Given the description of an element on the screen output the (x, y) to click on. 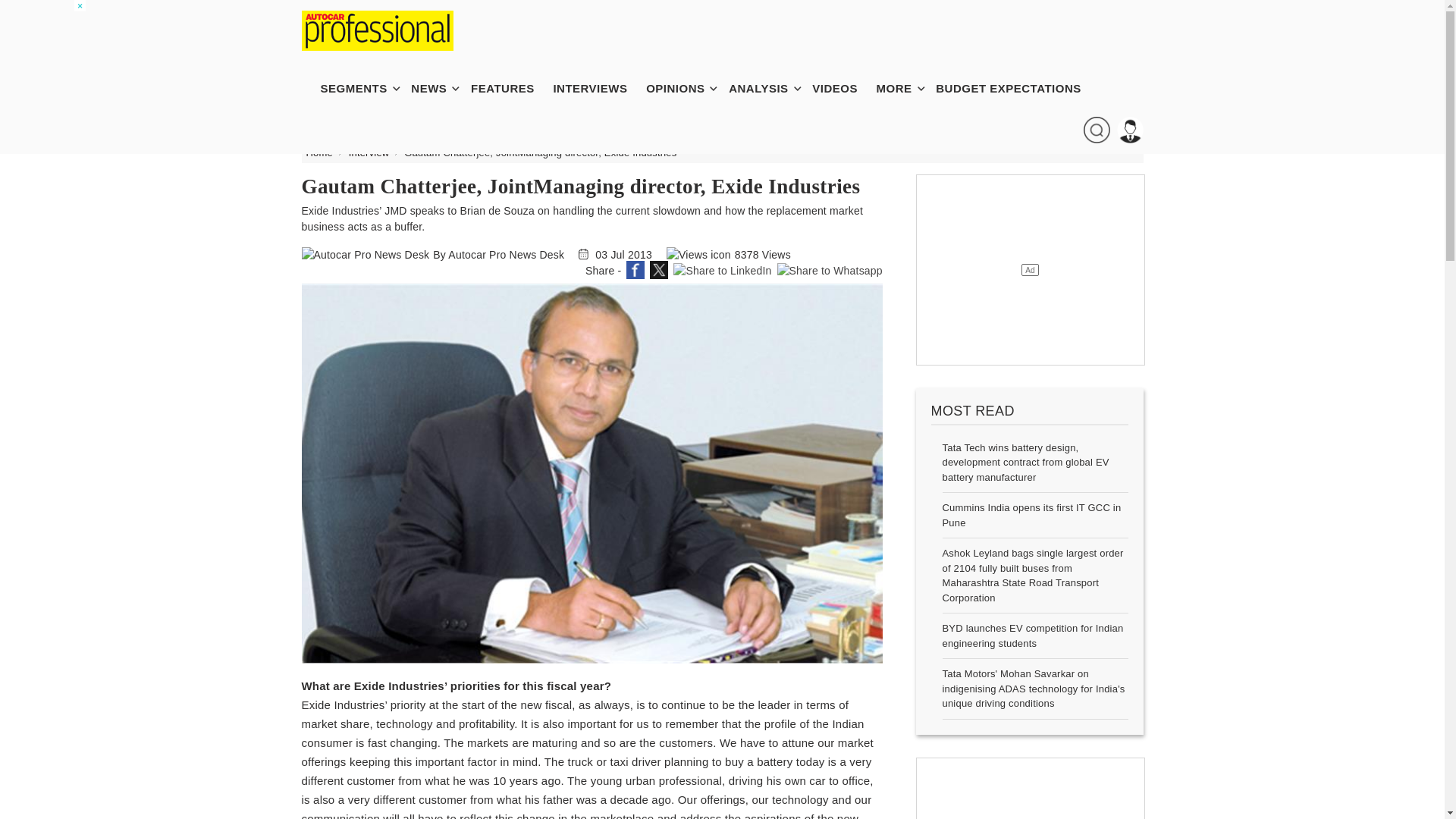
NEWS (435, 88)
MORE (901, 88)
VIDEOS (842, 88)
INTERVIEWS (596, 88)
OPINIONS (682, 88)
SEGMENTS (361, 88)
ANALYSIS (765, 88)
FEATURES (510, 88)
BUDGET EXPECTATIONS (1015, 88)
